Given the description of an element on the screen output the (x, y) to click on. 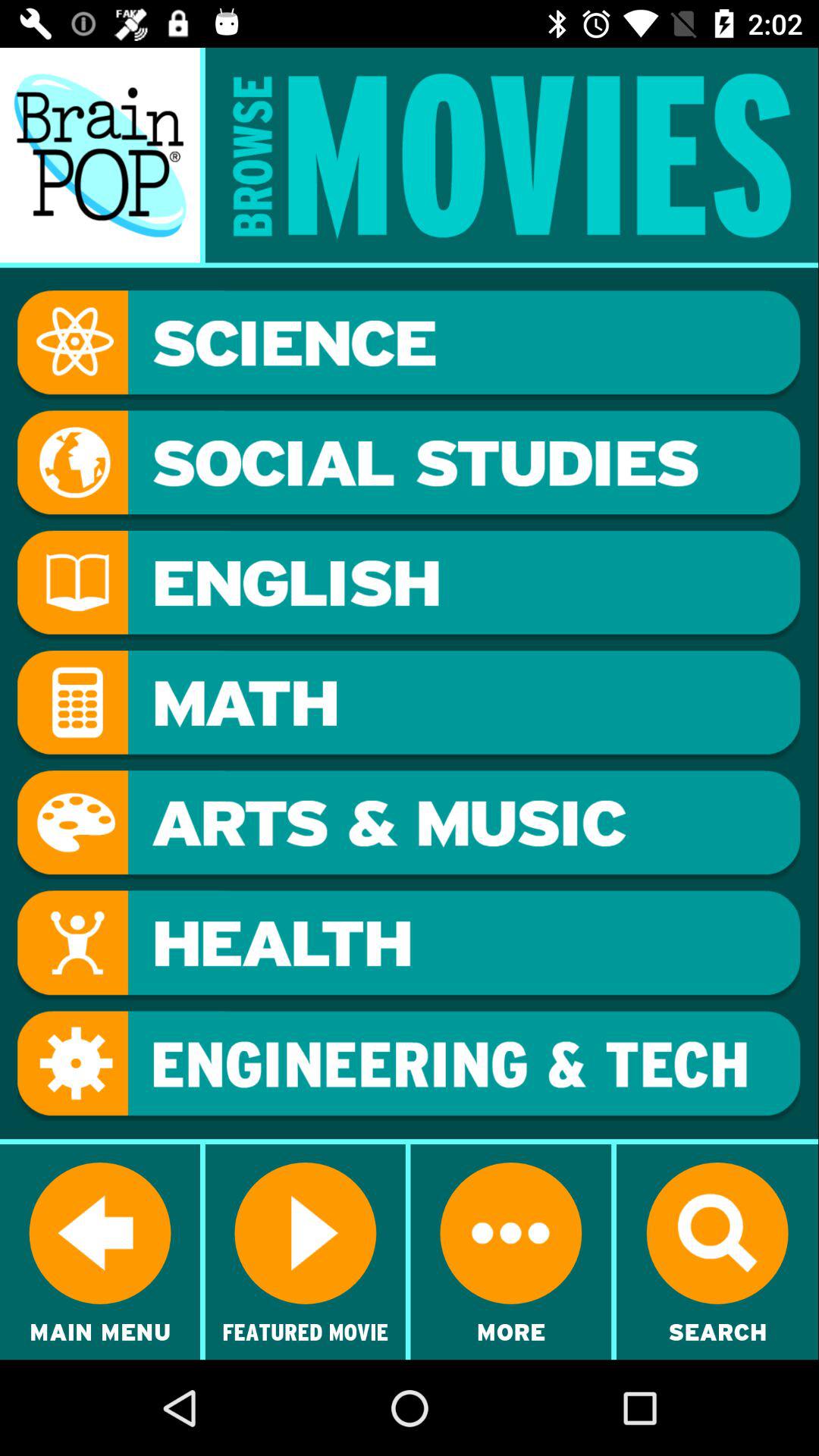
select math (408, 704)
